Given the description of an element on the screen output the (x, y) to click on. 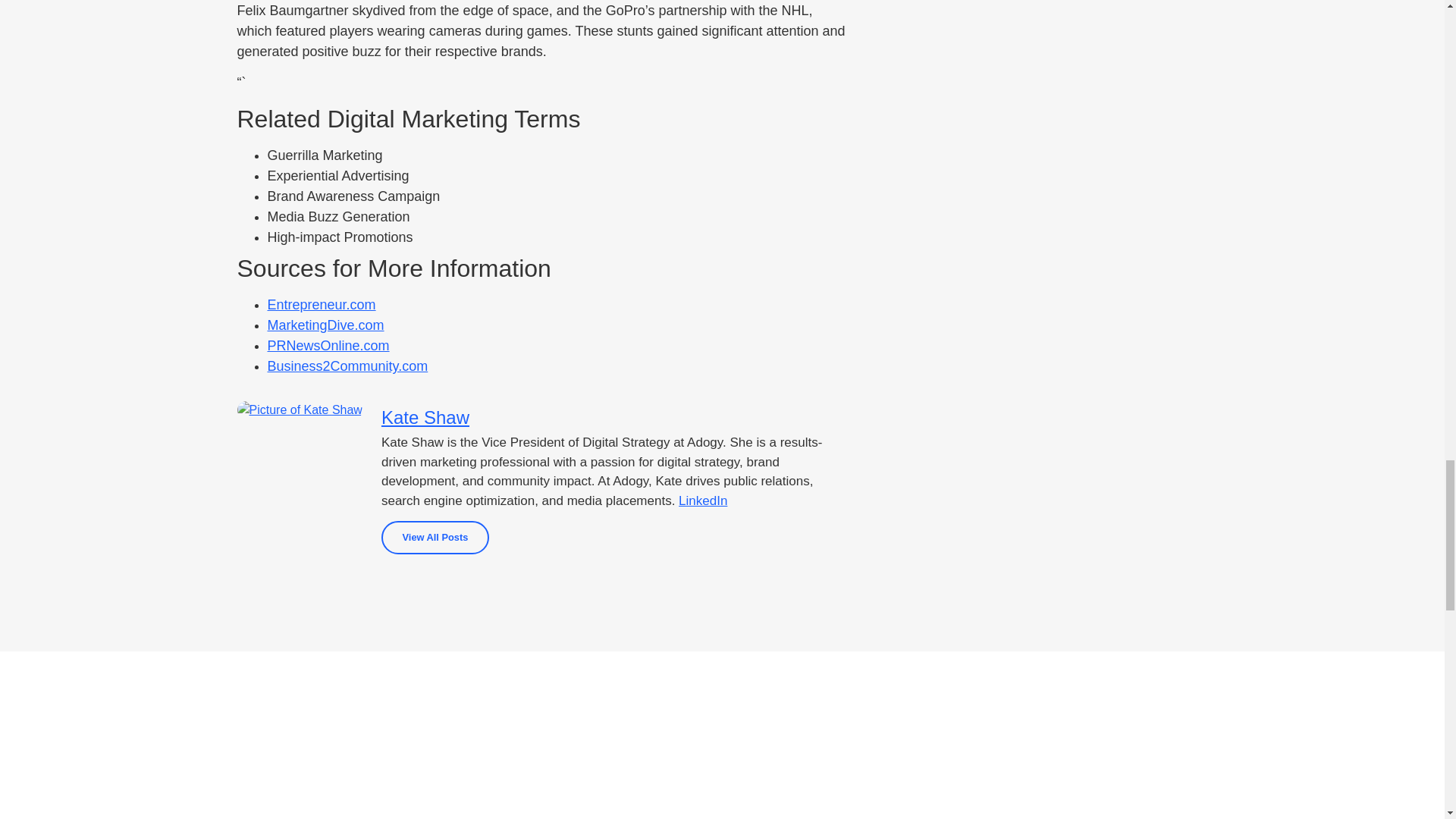
LinkedIn (702, 500)
MarketingDive.com (325, 324)
View All Posts (435, 537)
PRNewsOnline.com (327, 345)
Entrepreneur.com (320, 304)
Kate Shaw (615, 418)
Business2Community.com (347, 365)
